Given the description of an element on the screen output the (x, y) to click on. 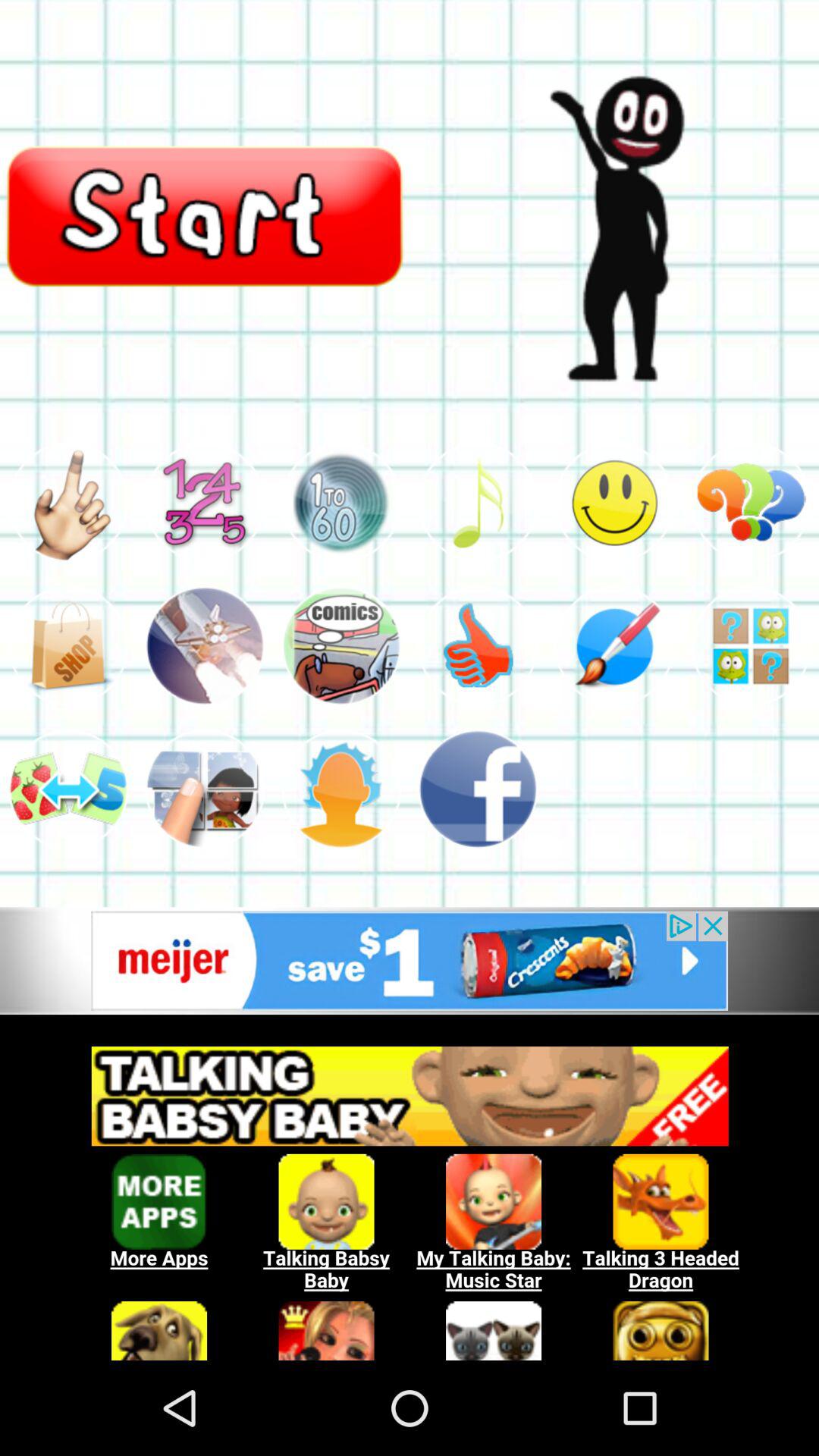
select painting activity (614, 645)
